Given the description of an element on the screen output the (x, y) to click on. 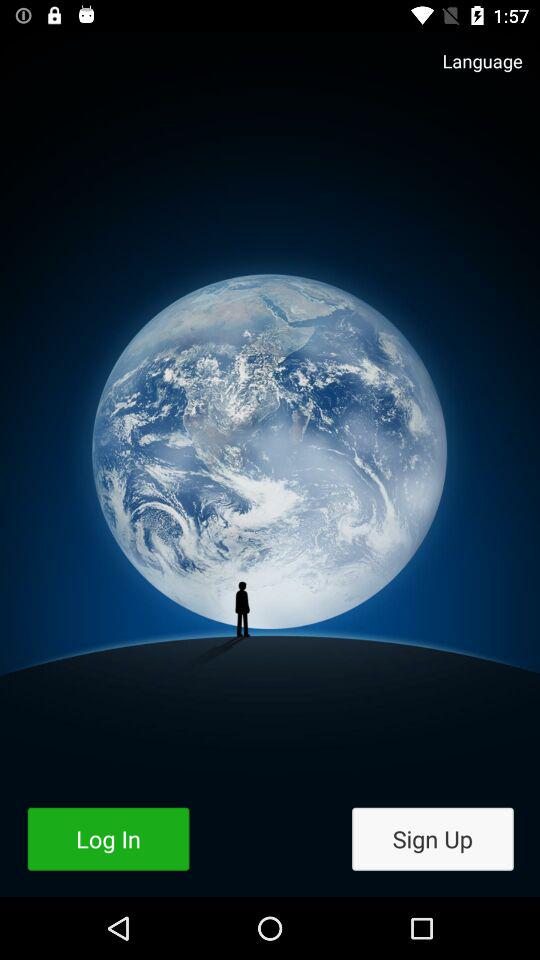
turn on item to the right of log in (432, 838)
